Given the description of an element on the screen output the (x, y) to click on. 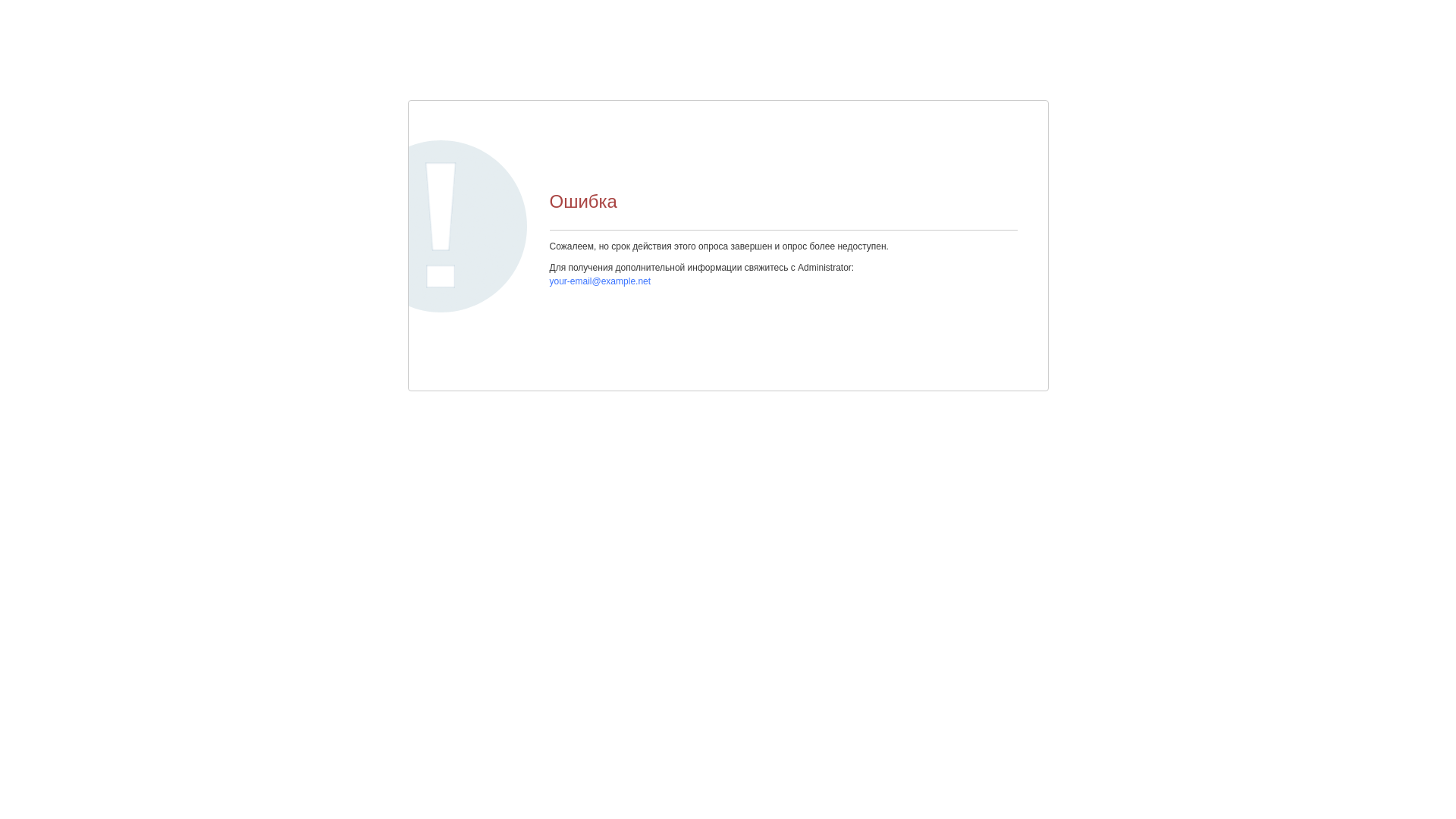
your-email@example.net Element type: text (599, 281)
